Given the description of an element on the screen output the (x, y) to click on. 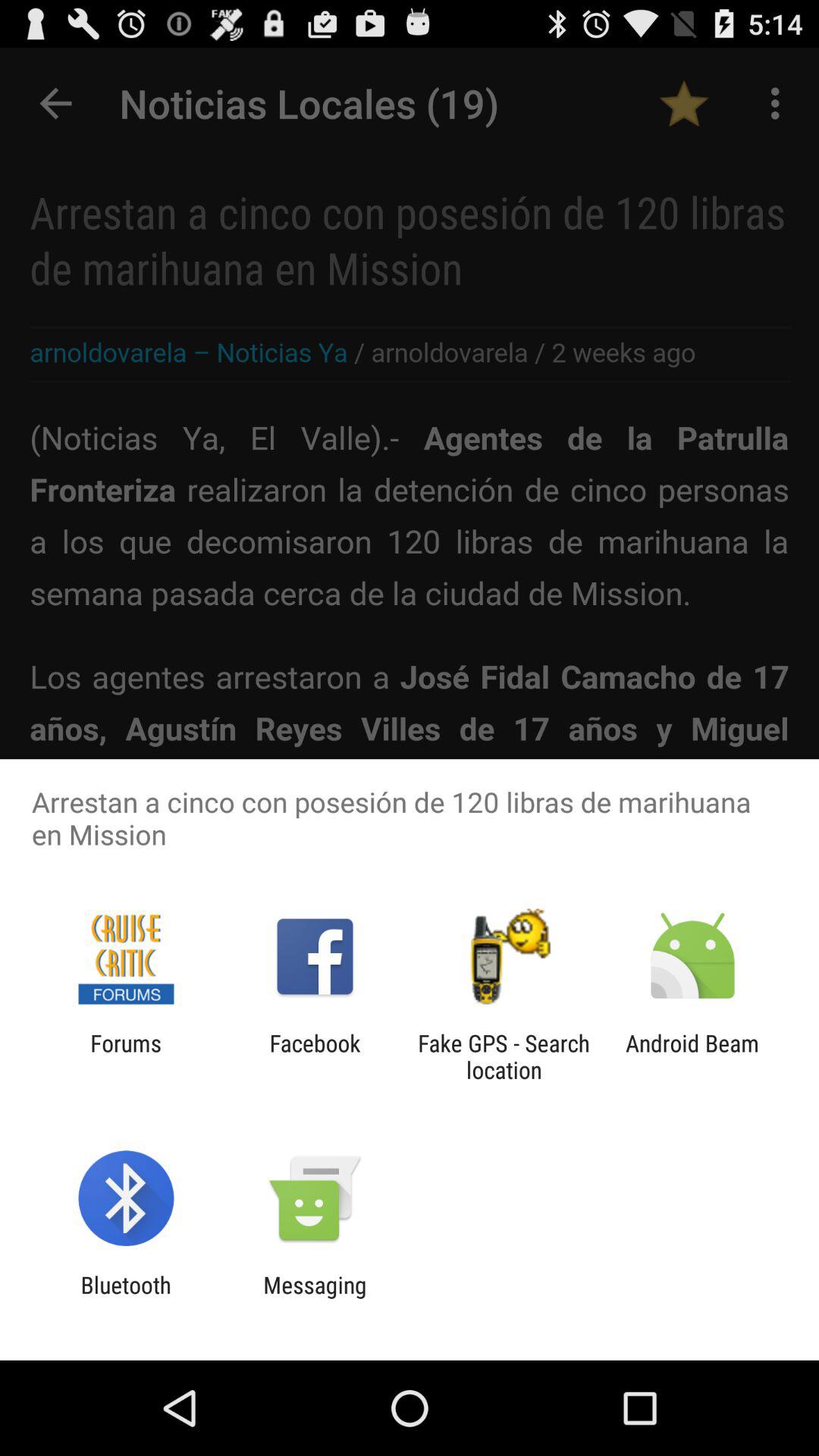
jump to the forums item (125, 1056)
